Given the description of an element on the screen output the (x, y) to click on. 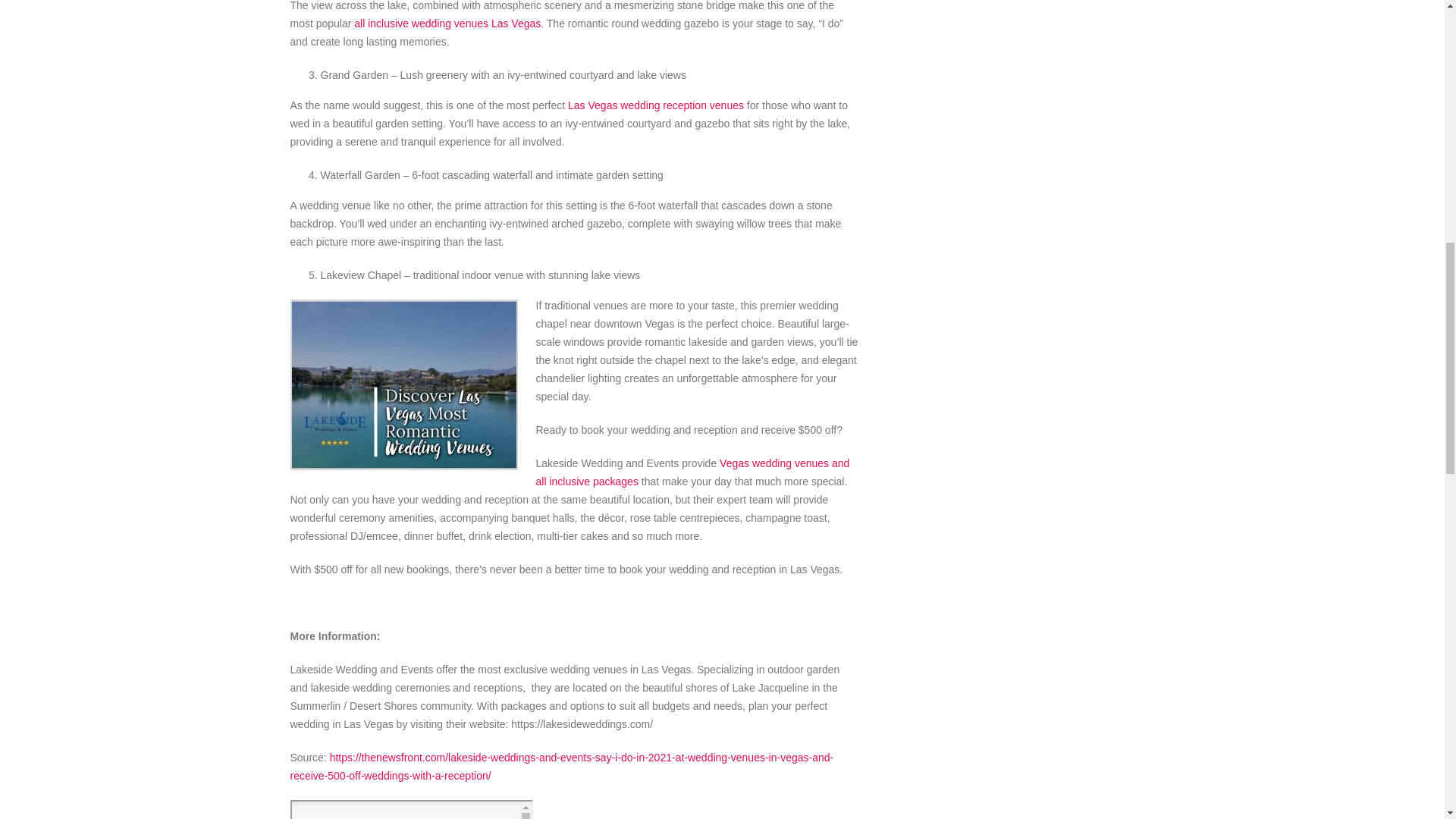
Las Vegas wedding reception venues (655, 105)
all inclusive wedding venues Las Vegas (446, 23)
Vegas wedding venues and all inclusive packages (691, 472)
